Given the description of an element on the screen output the (x, y) to click on. 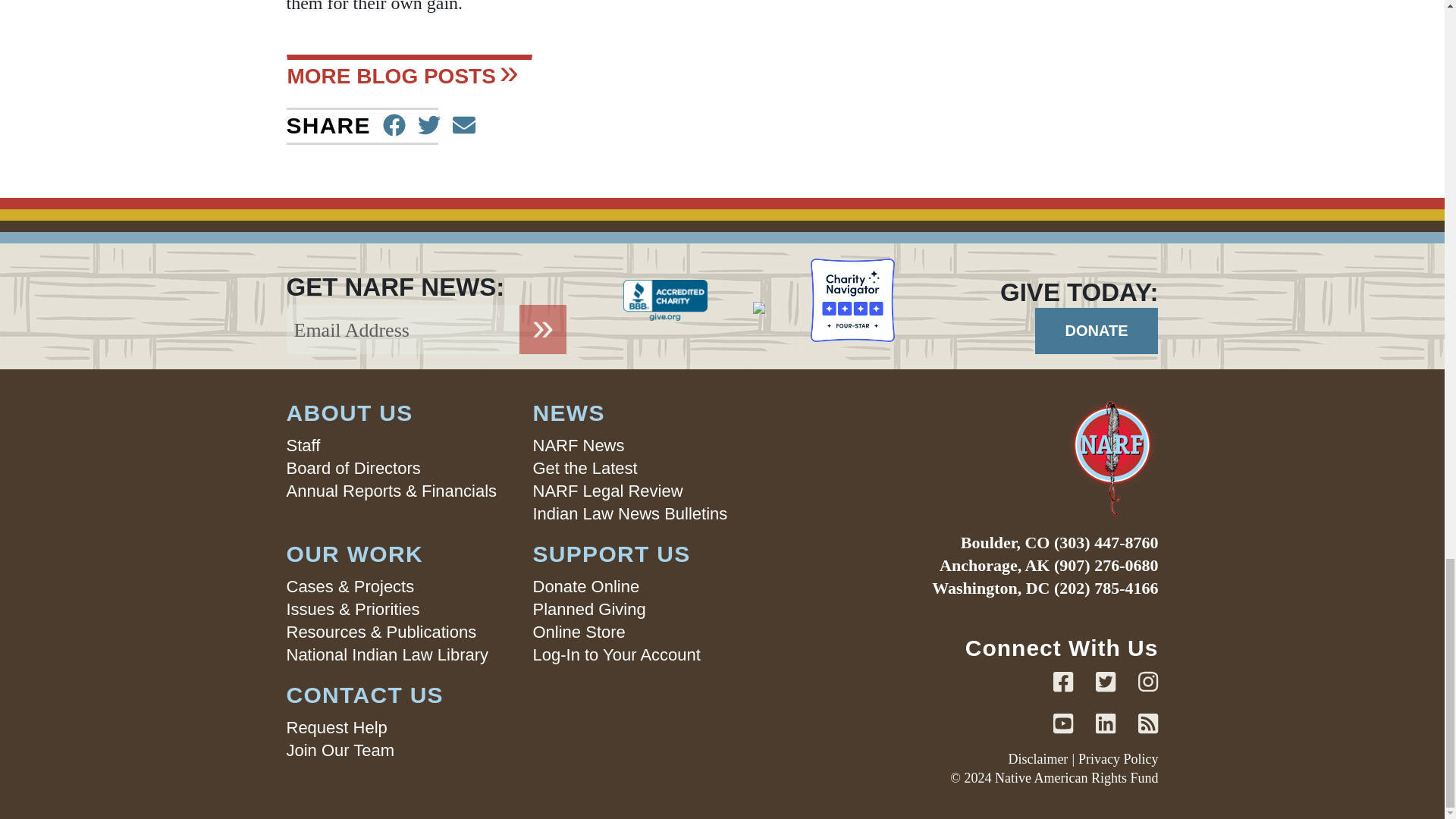
Native American Rights Fund (980, 457)
Share on Facebook (394, 125)
Tweet (429, 125)
Send email (464, 125)
Donate (1096, 330)
